Given the description of an element on the screen output the (x, y) to click on. 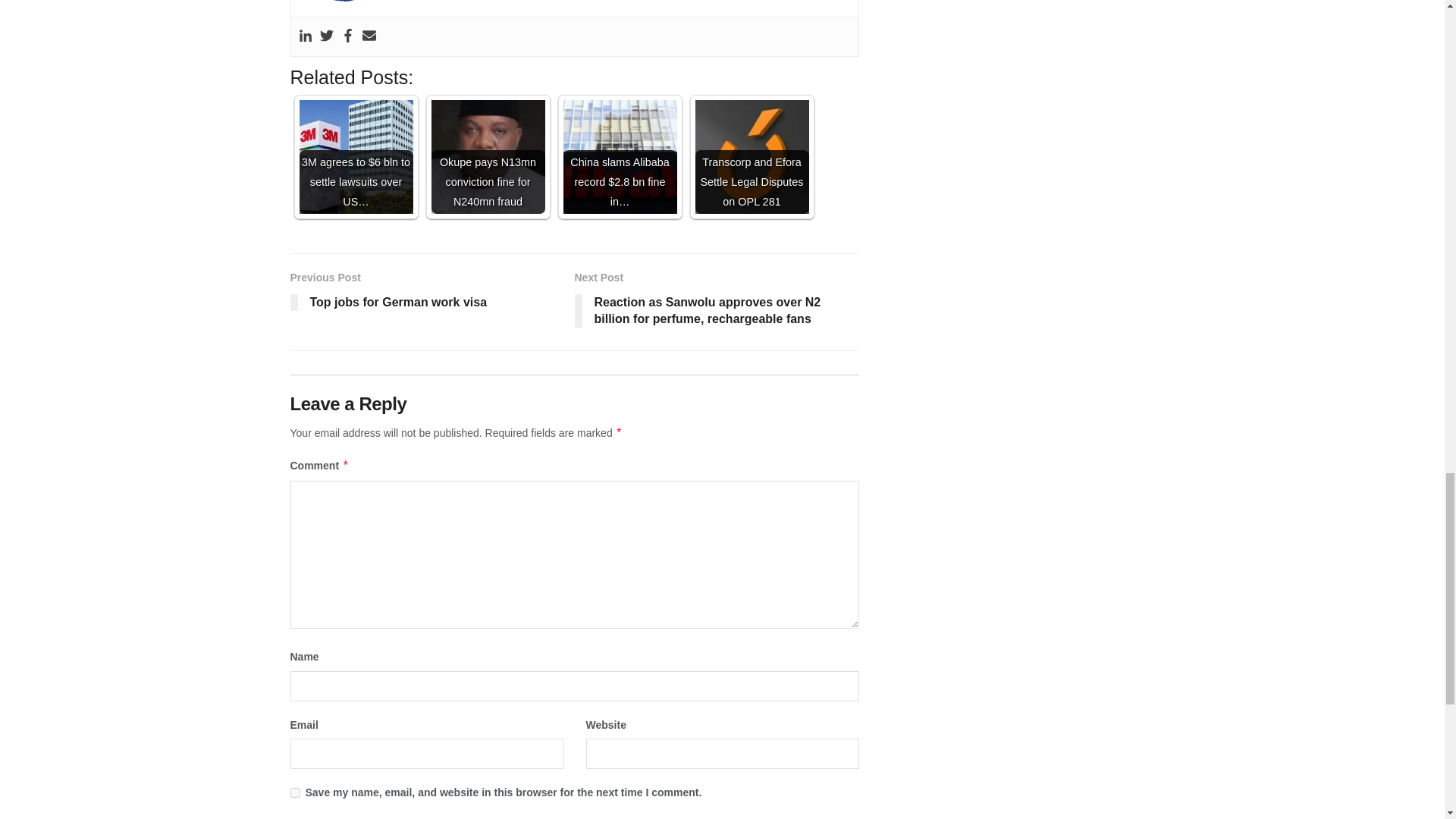
yes (294, 792)
Okupe pays N13mn conviction fine for N240mn fraud (487, 156)
Transcorp and Efora Settle Legal Disputes on OPL 281 (751, 156)
